Given the description of an element on the screen output the (x, y) to click on. 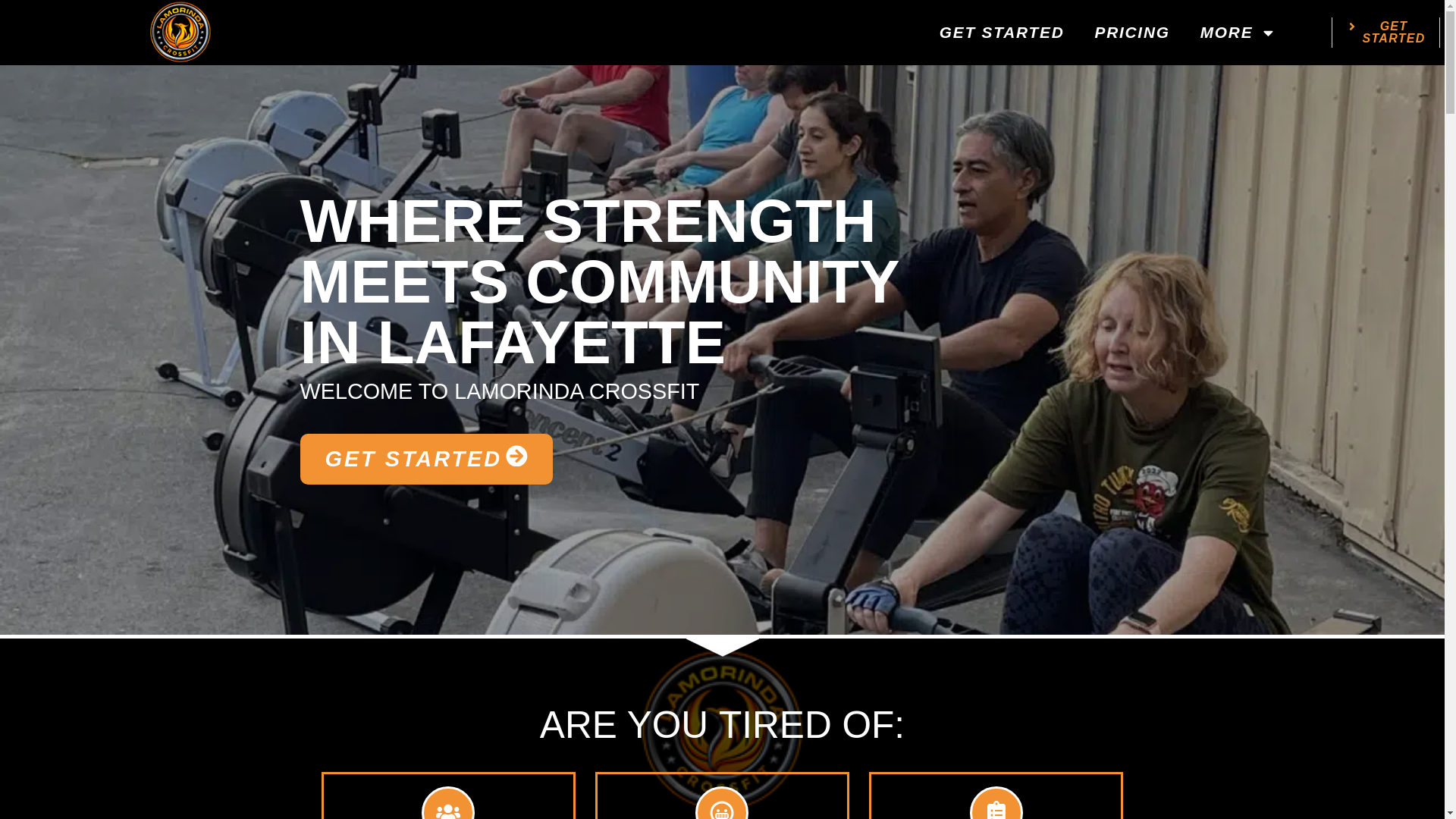
PRICING (1131, 32)
GET STARTED (1385, 32)
MORE (1002, 32)
